Given the description of an element on the screen output the (x, y) to click on. 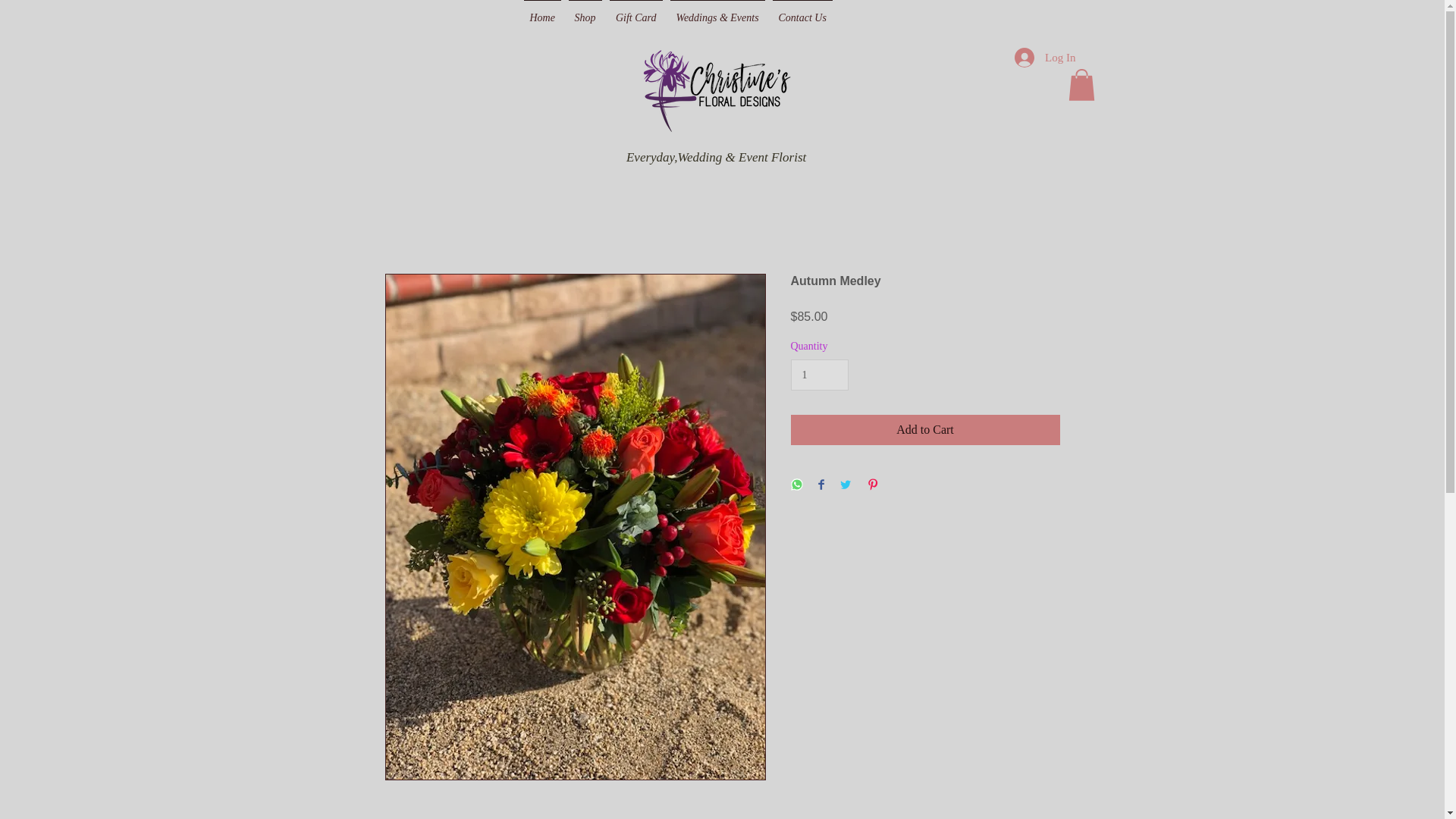
Add to Cart (924, 429)
Contact Us (801, 11)
1 (818, 374)
Shop (584, 11)
Log In (1045, 57)
Home (541, 11)
Gift Card (635, 11)
